Given the description of an element on the screen output the (x, y) to click on. 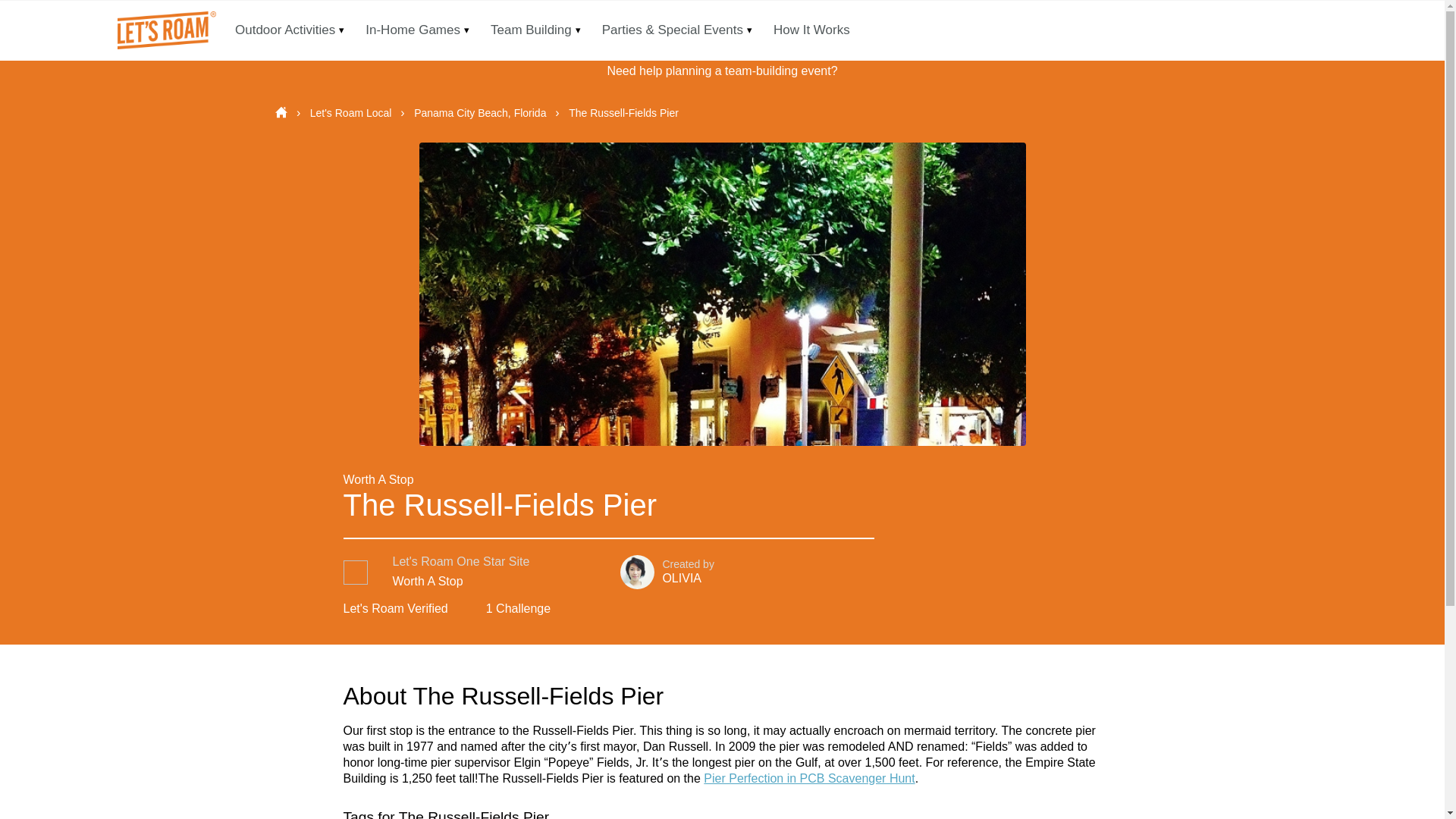
In-Home Games (413, 30)
How It Works (811, 30)
In-Home Games (413, 30)
Let's Roam Local (352, 112)
The Russell-Fields Pier (623, 112)
Team Building (531, 30)
Panama City Beach, Florida (480, 112)
Team Building (531, 30)
Let's Roam Scavenger Hunts (164, 30)
Outdoor Activities (284, 30)
